Given the description of an element on the screen output the (x, y) to click on. 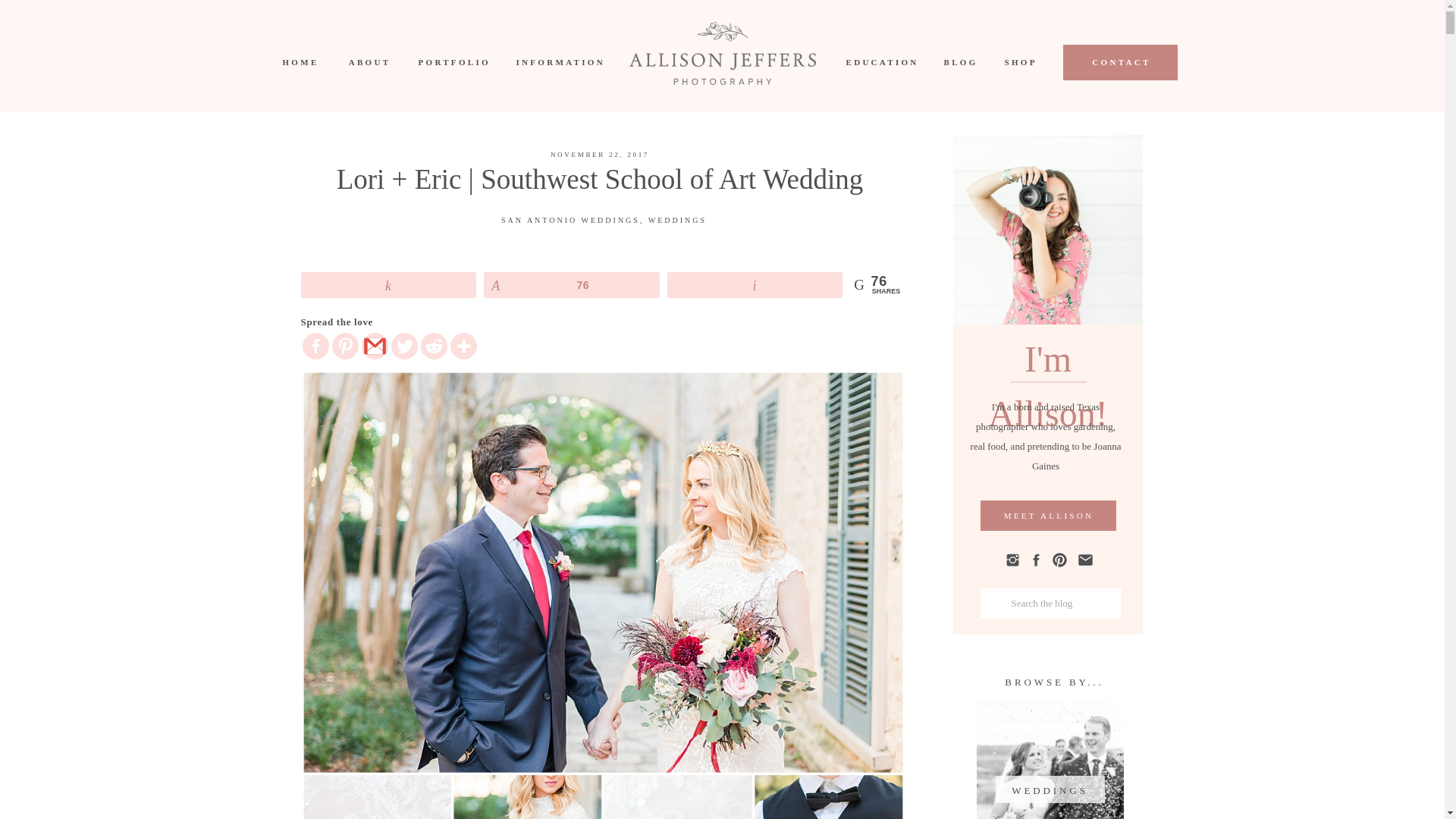
WEDDINGS (1049, 788)
More (463, 345)
Twitter (404, 345)
Reddit (433, 345)
76 (571, 283)
BLOG (958, 61)
Pinterest (344, 345)
Google Gmail (374, 345)
EDUCATION (880, 61)
ABOUT (369, 61)
Facebook (315, 345)
INFORMATION (556, 61)
MEET ALLISON (1048, 515)
CONTACT (1120, 61)
PORTFOLIO (453, 61)
